Given the description of an element on the screen output the (x, y) to click on. 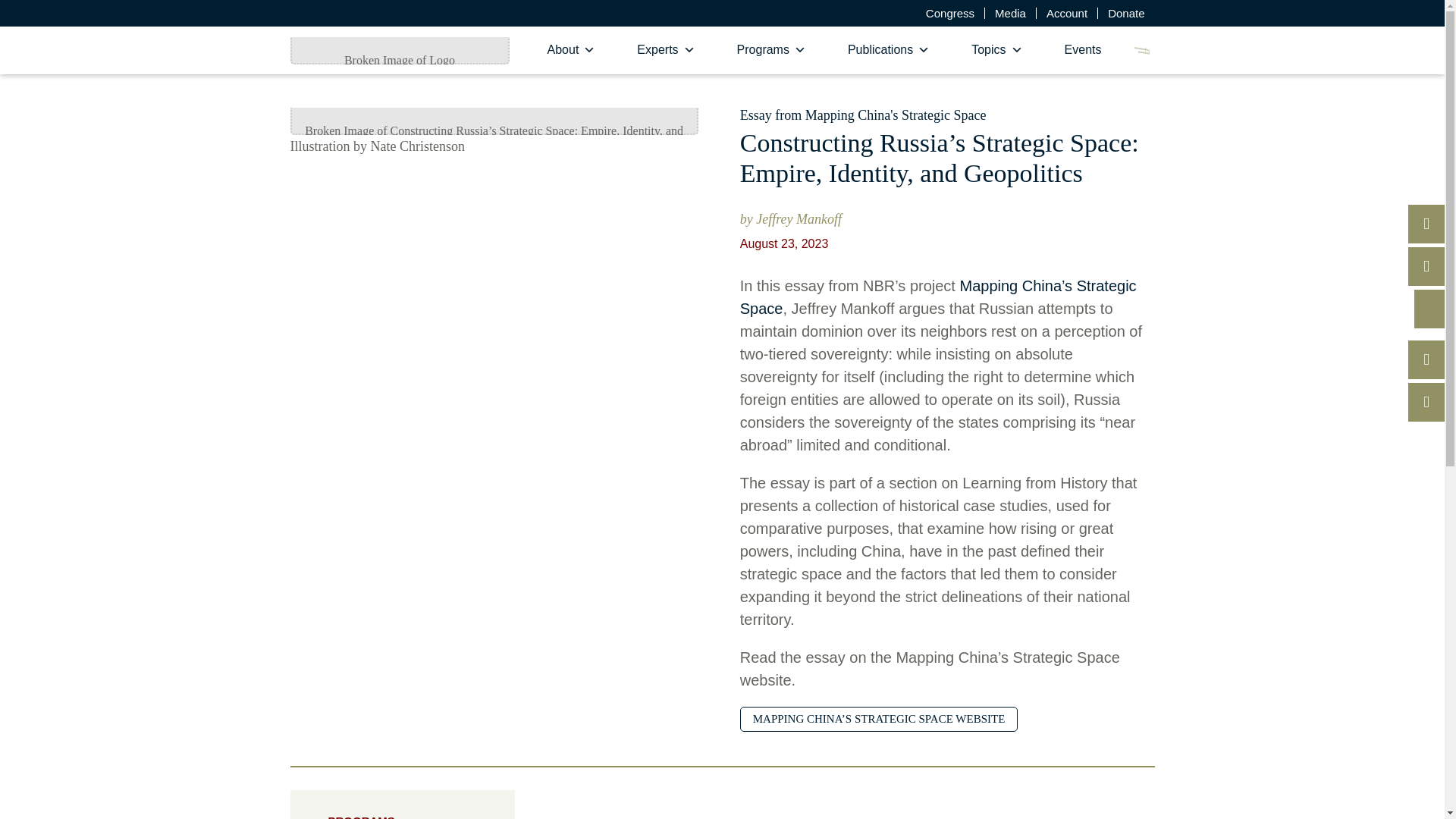
About (571, 50)
Media (1010, 12)
Account (1066, 12)
Donate (1125, 12)
Experts (665, 50)
Congress (949, 12)
Programs (771, 50)
